Given the description of an element on the screen output the (x, y) to click on. 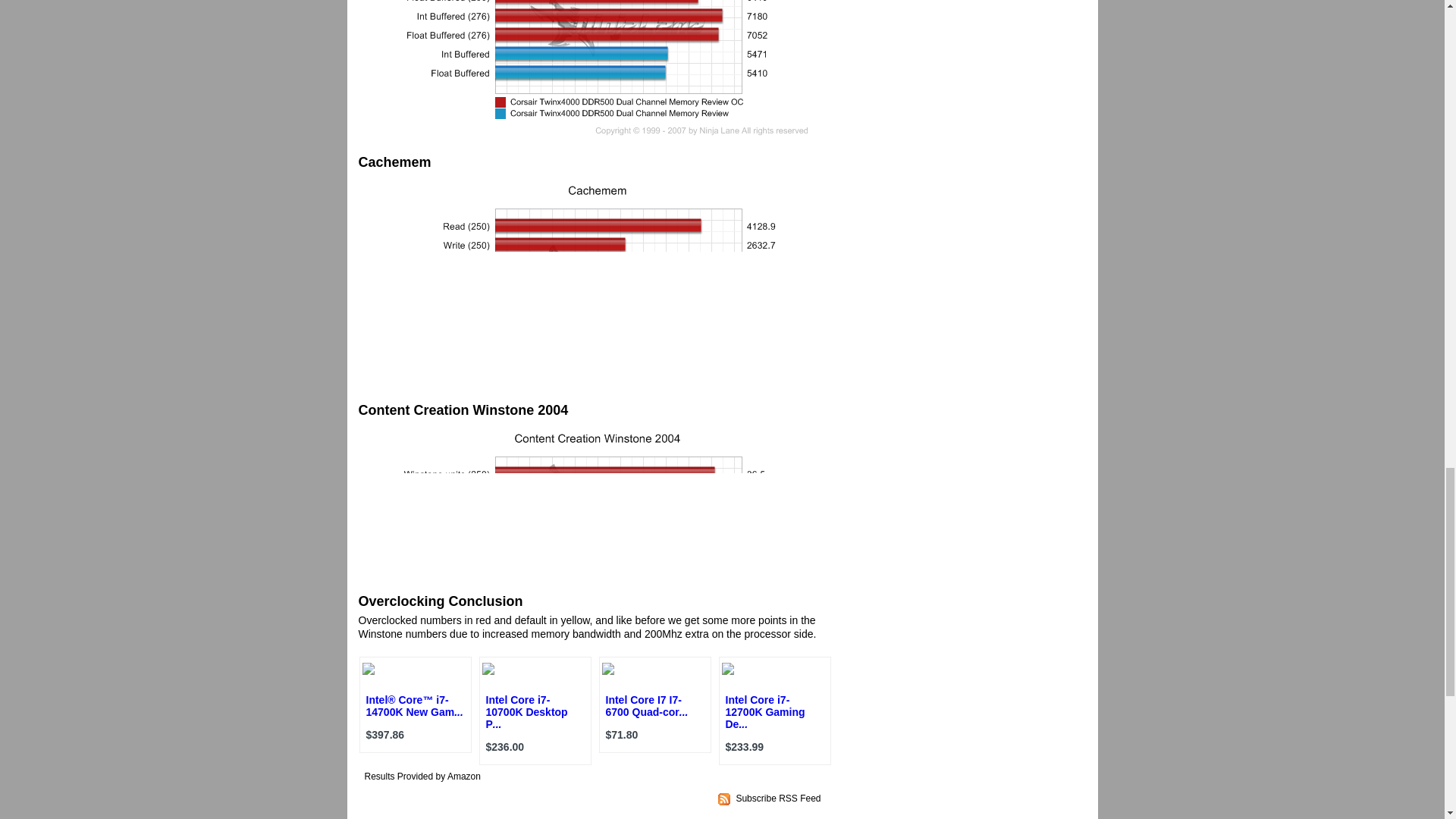
Subscribe RSS Feed (778, 798)
Intel Core I7 I7-6700 Quad-cor... (646, 705)
Intel Core i7-10700K Desktop P... (525, 711)
Intel Core i7-12700K Gaming De... (765, 711)
Hardware Asylum RSS Feed (778, 798)
